Given the description of an element on the screen output the (x, y) to click on. 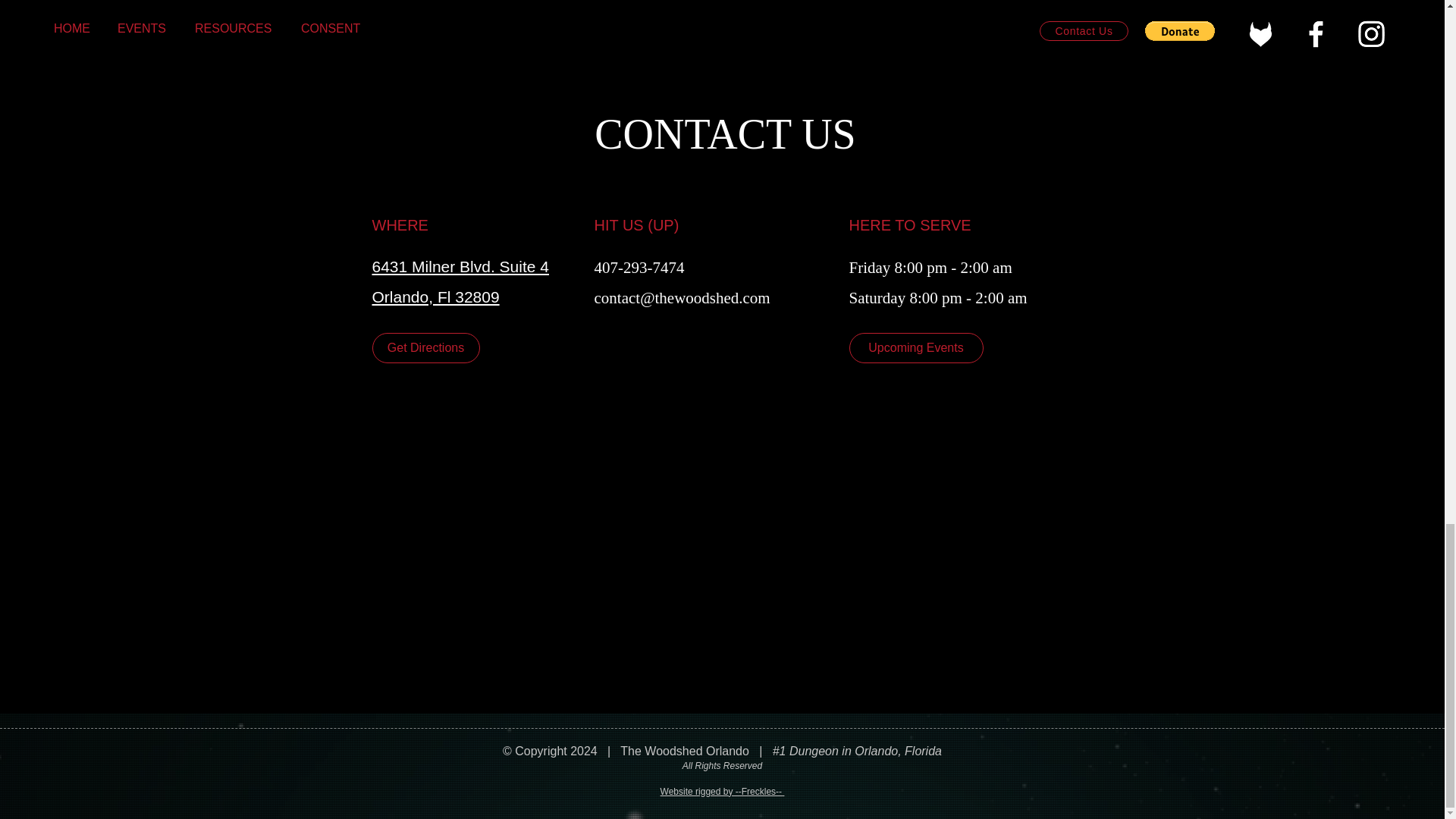
Upcoming Events (916, 347)
Get Directions (425, 347)
6431 Milner Blvd. Suite 4 (459, 266)
Orlando, Fl 32809 (435, 296)
Website rigged by --Freckles--  (722, 791)
